Given the description of an element on the screen output the (x, y) to click on. 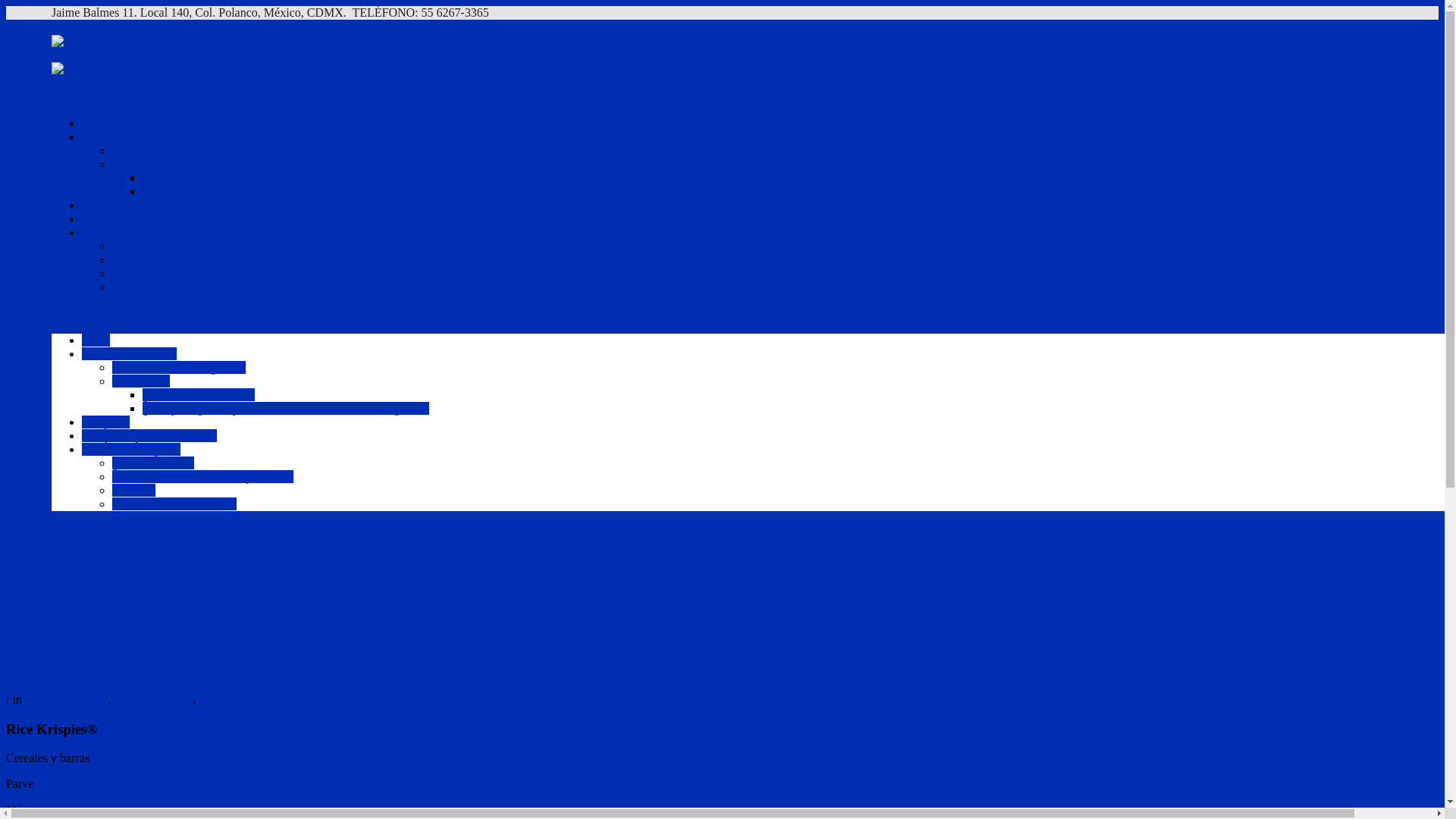
Certifica tu empresa Element type: text (130, 231)
Cereales y barras Element type: text (66, 699)
Inicio Element type: text (95, 122)
Certifica tu empresa Element type: text (130, 448)
Establecimiento Element type: text (153, 699)
Procesos Element type: text (133, 272)
Banquetes y eventos kosher Element type: text (148, 218)
Por tu salud Element type: text (140, 380)
Inicio Element type: text (95, 339)
Beneficios de certificar tus productos Element type: text (202, 476)
Banquetes y eventos kosher Element type: text (148, 435)
Beneficios de certificar tus productos Element type: text (202, 259)
Por tu salud Element type: text (140, 163)
Procesos Element type: text (133, 489)
